Given the description of an element on the screen output the (x, y) to click on. 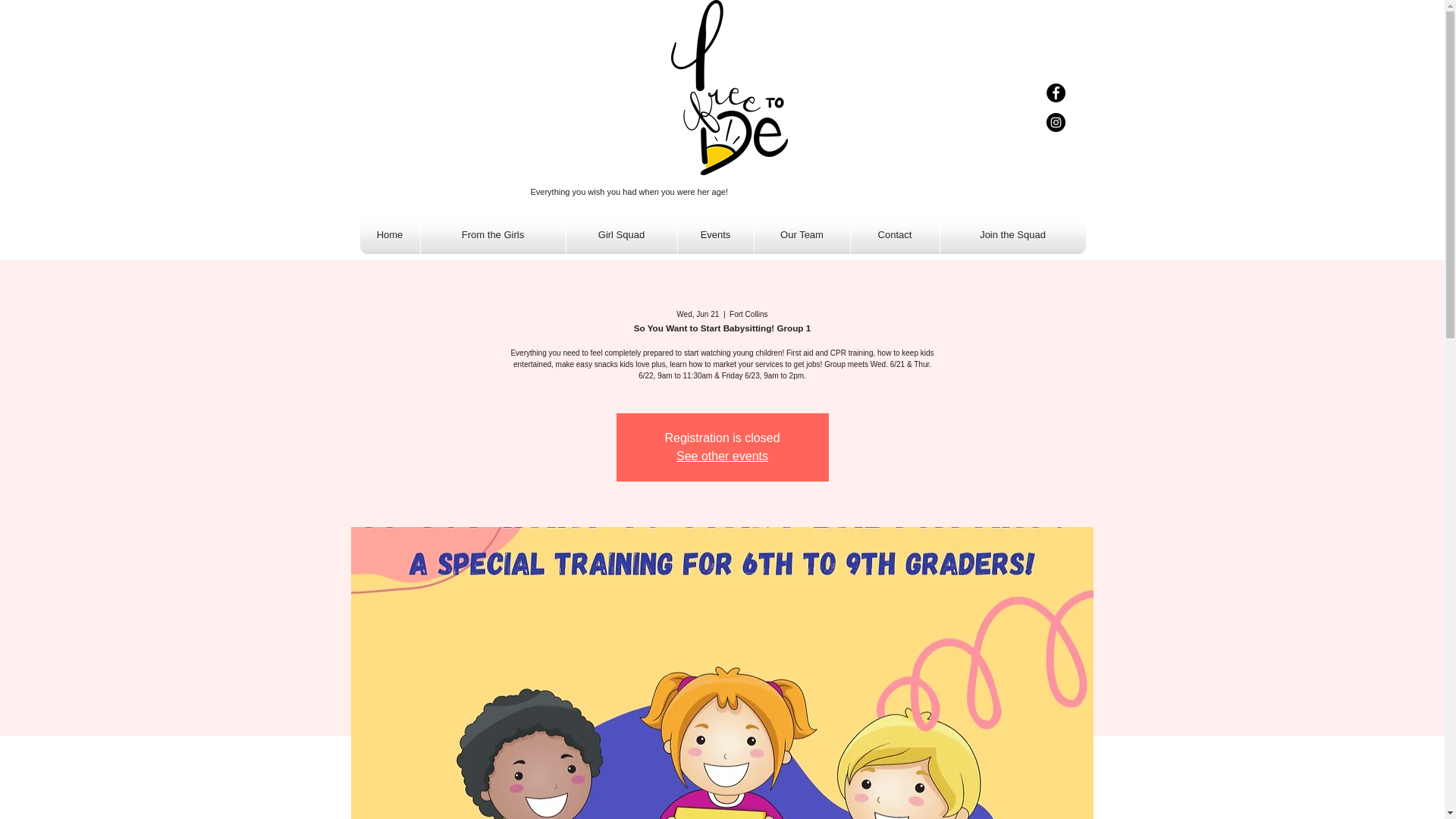
From the Girls (492, 234)
Events (716, 234)
Join the Squad (1013, 234)
See other events (722, 455)
Our Team (801, 234)
Contact (894, 234)
Home (389, 234)
Girl Squad (621, 234)
